Given the description of an element on the screen output the (x, y) to click on. 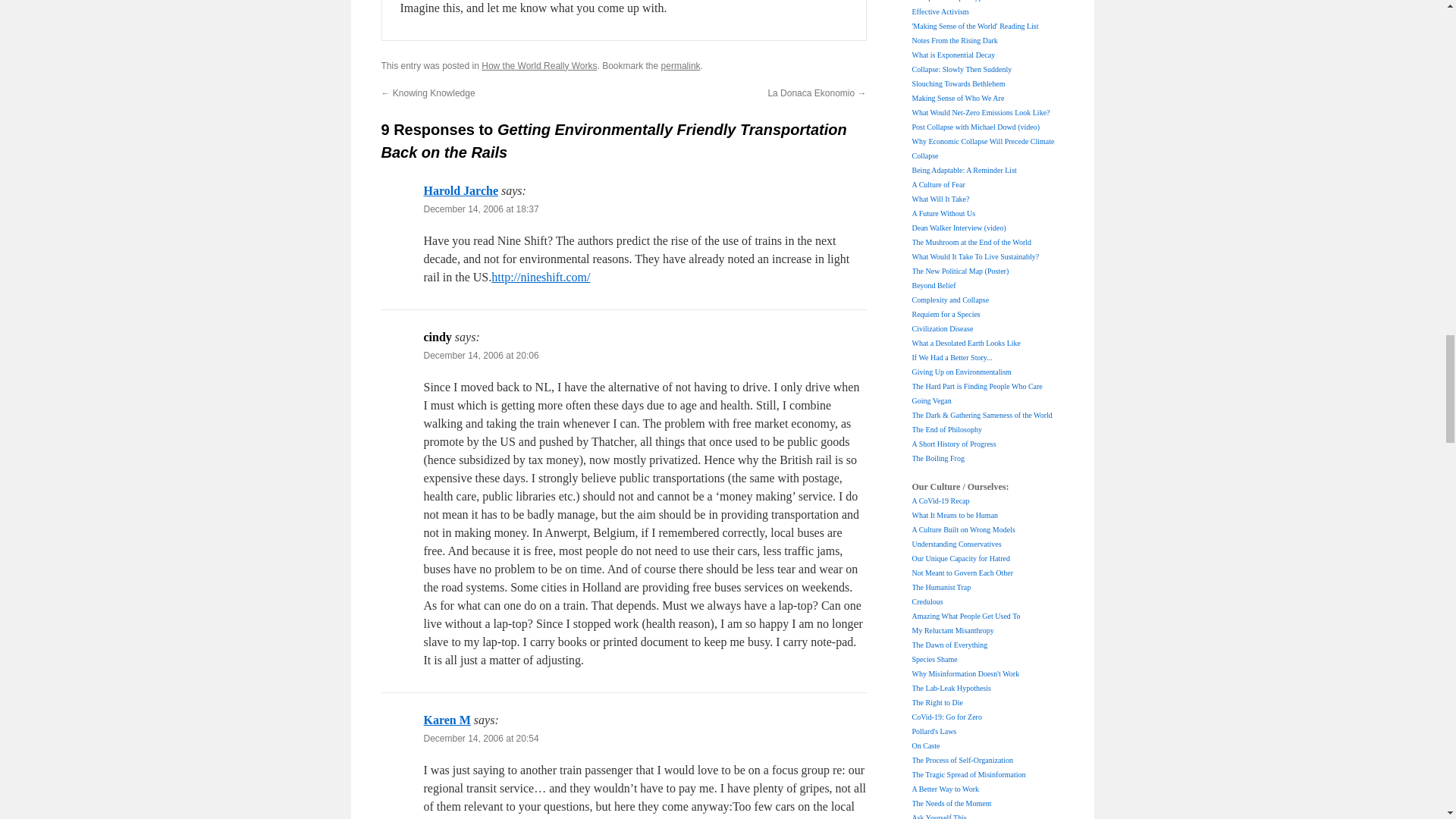
December 14, 2006 at 20:06 (480, 355)
December 14, 2006 at 18:37 (480, 208)
Harold Jarche (460, 190)
permalink (680, 65)
Karen M (446, 719)
How the World Really Works (538, 65)
December 14, 2006 at 20:54 (480, 738)
